Given the description of an element on the screen output the (x, y) to click on. 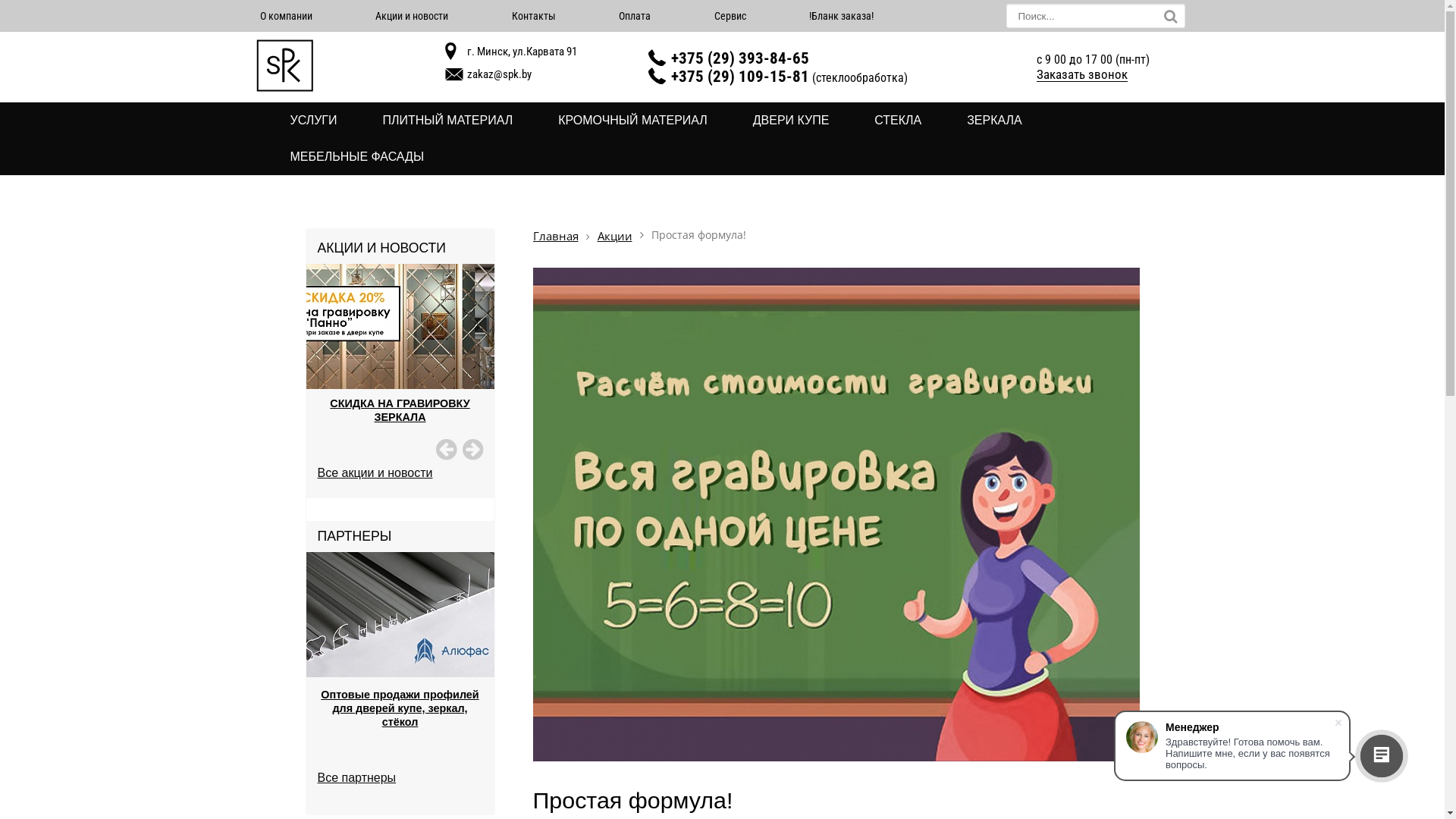
zakaz@spk.by Element type: text (499, 73)
+375 (29) 393-84-65 Element type: text (740, 57)
+375 (29) 109-15-81 Element type: text (740, 75)
